Given the description of an element on the screen output the (x, y) to click on. 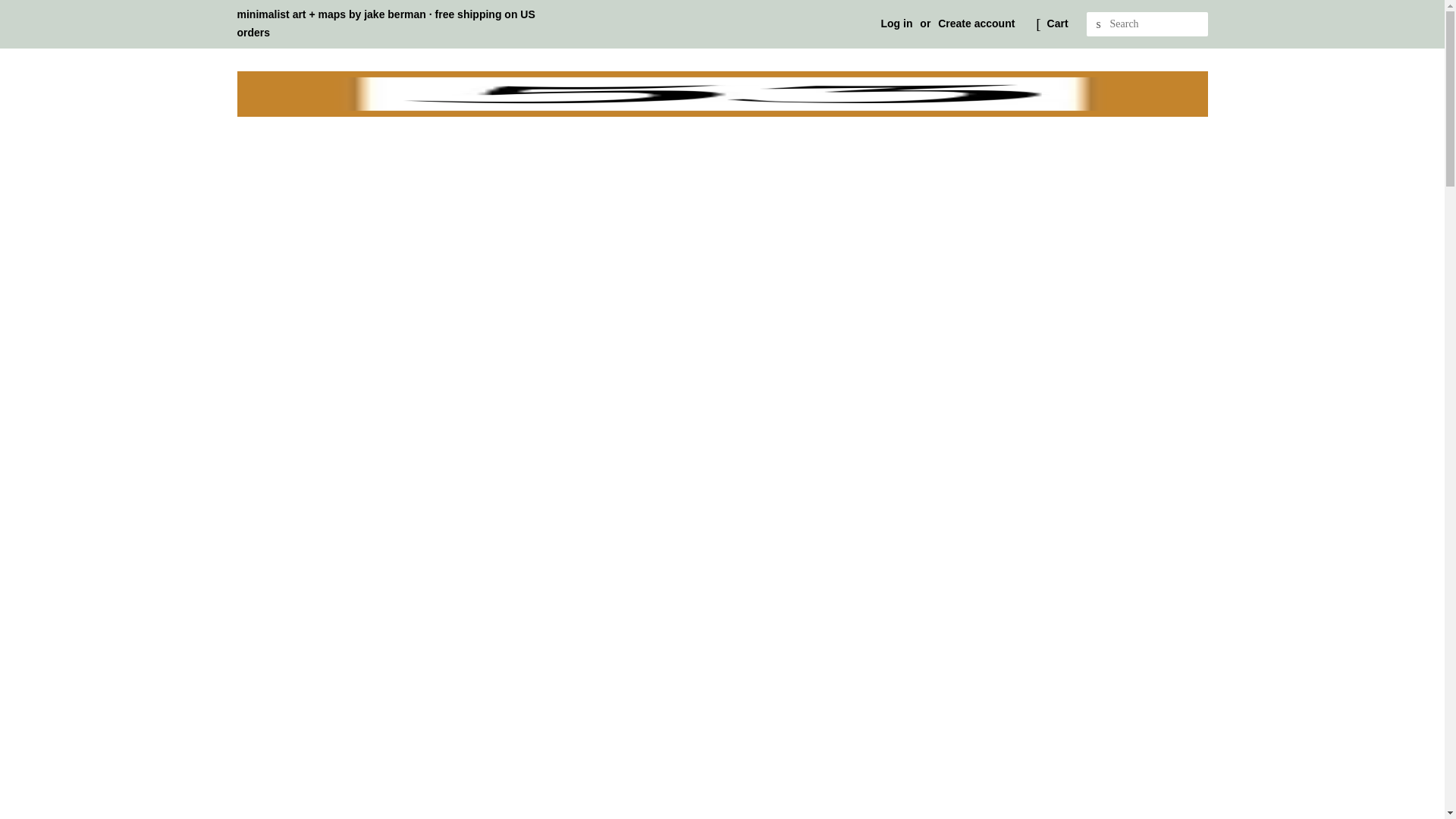
Search (1097, 24)
Cart (1057, 24)
Create account (975, 23)
Log in (896, 23)
